Given the description of an element on the screen output the (x, y) to click on. 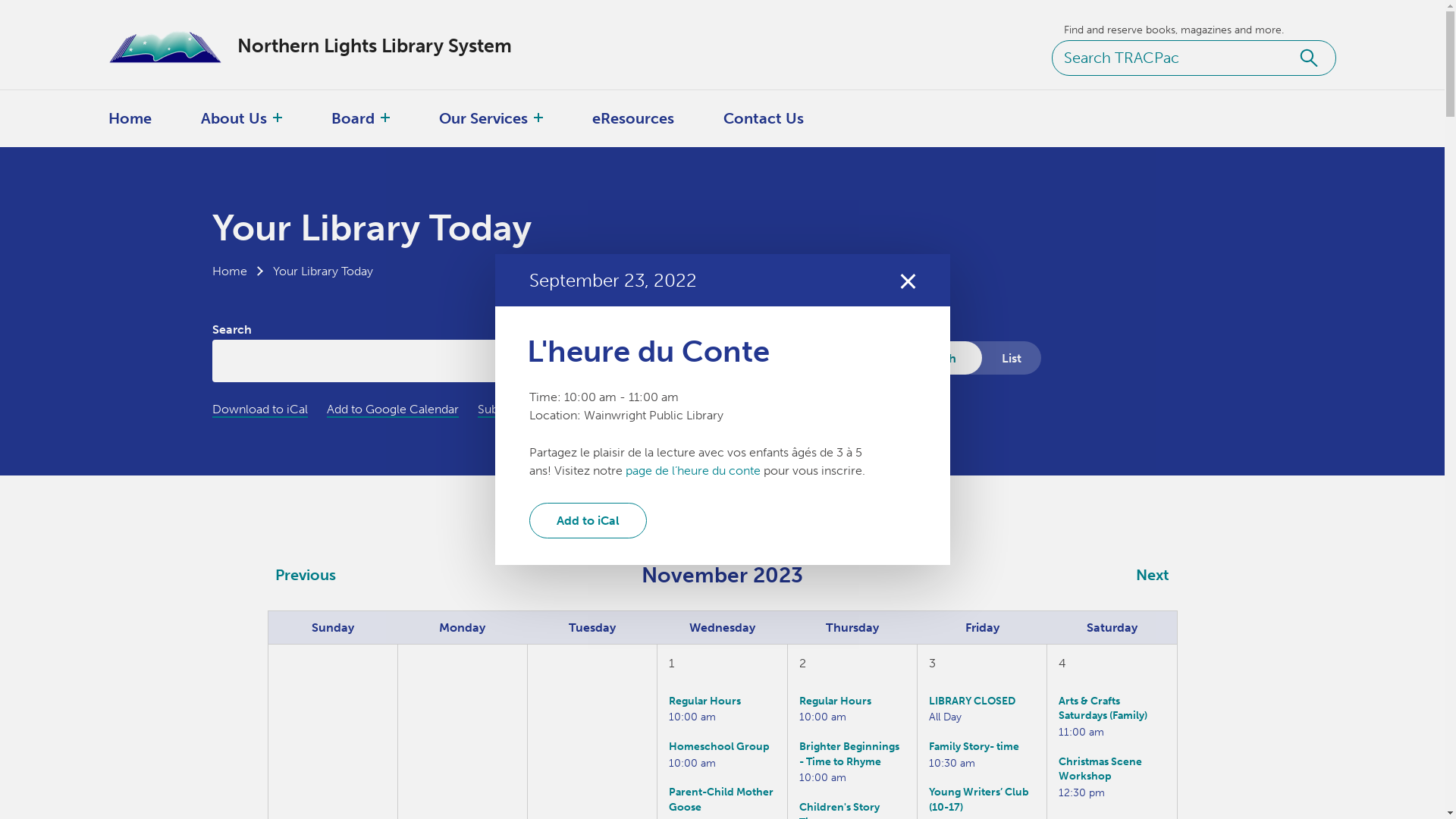
Subscribe to Calendar Element type: text (537, 409)
Parent-Child Mother Goose Element type: text (720, 799)
Add to Google Calendar Element type: text (392, 409)
Our Services Element type: text (483, 118)
Month Element type: text (937, 357)
List Element type: text (1011, 357)
Print Calendar Element type: text (656, 409)
Home Element type: text (229, 270)
Close Element type: text (906, 279)
Arts & Crafts Saturdays (Family) Element type: text (1102, 708)
Regular Hours Element type: text (835, 700)
LIBRARY CLOSED Element type: text (971, 700)
eResources Element type: text (633, 118)
Christmas Scene Workshop Element type: text (1100, 769)
Brighter Beginnings - Time to Rhyme Element type: text (849, 754)
Northern Lights Library System Element type: text (325, 45)
Previous Element type: text (305, 574)
About Us Element type: text (233, 118)
Add to iCal Element type: text (587, 520)
Contact Us Element type: text (763, 118)
Download to iCal Element type: text (259, 409)
Next Element type: text (1152, 574)
Regular Hours Element type: text (704, 700)
Family Story- time Element type: text (973, 746)
Homeschool Group Element type: text (718, 746)
Home Element type: text (129, 118)
Board Element type: text (352, 118)
